Given the description of an element on the screen output the (x, y) to click on. 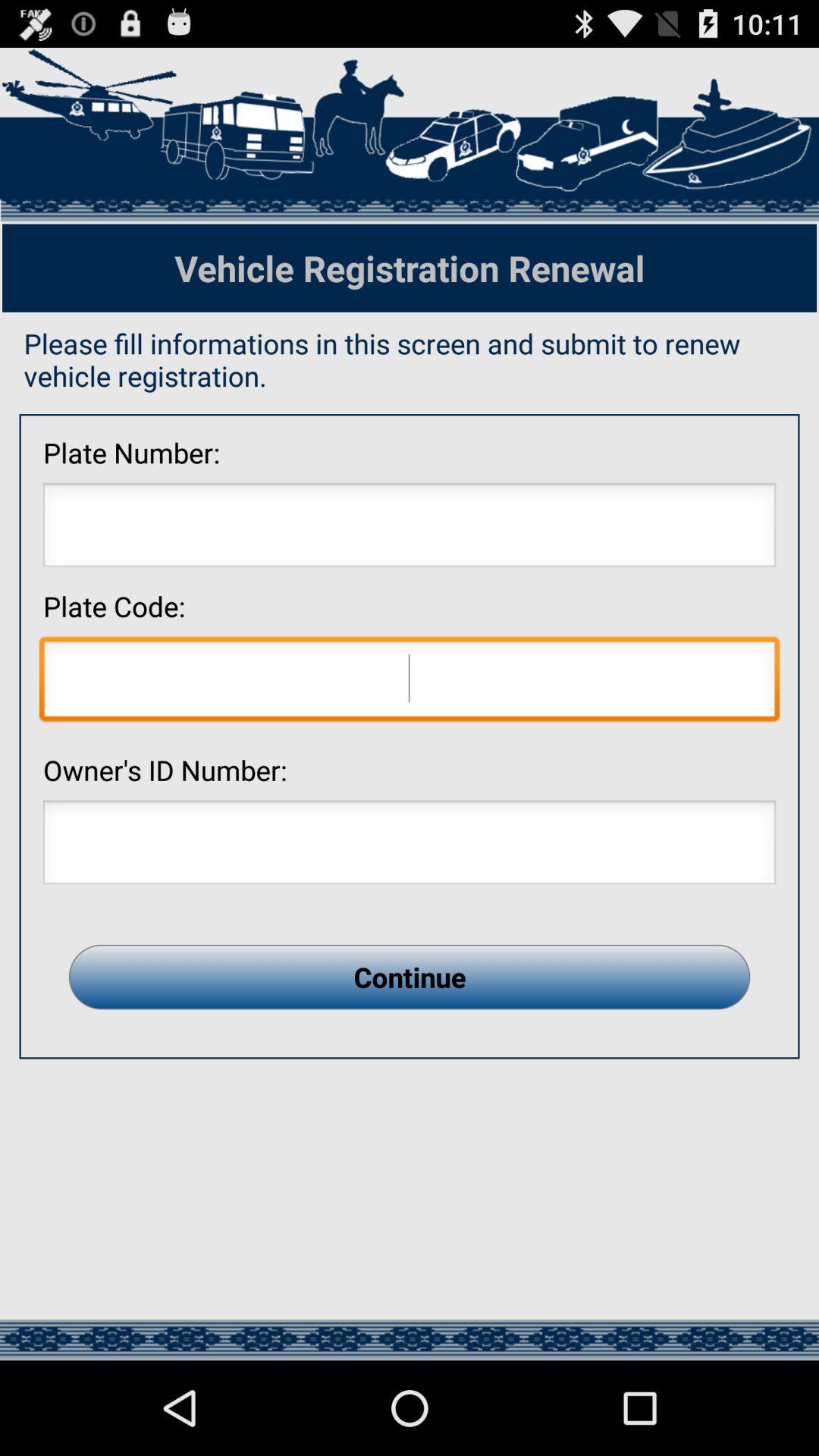
enter plate code (409, 682)
